Given the description of an element on the screen output the (x, y) to click on. 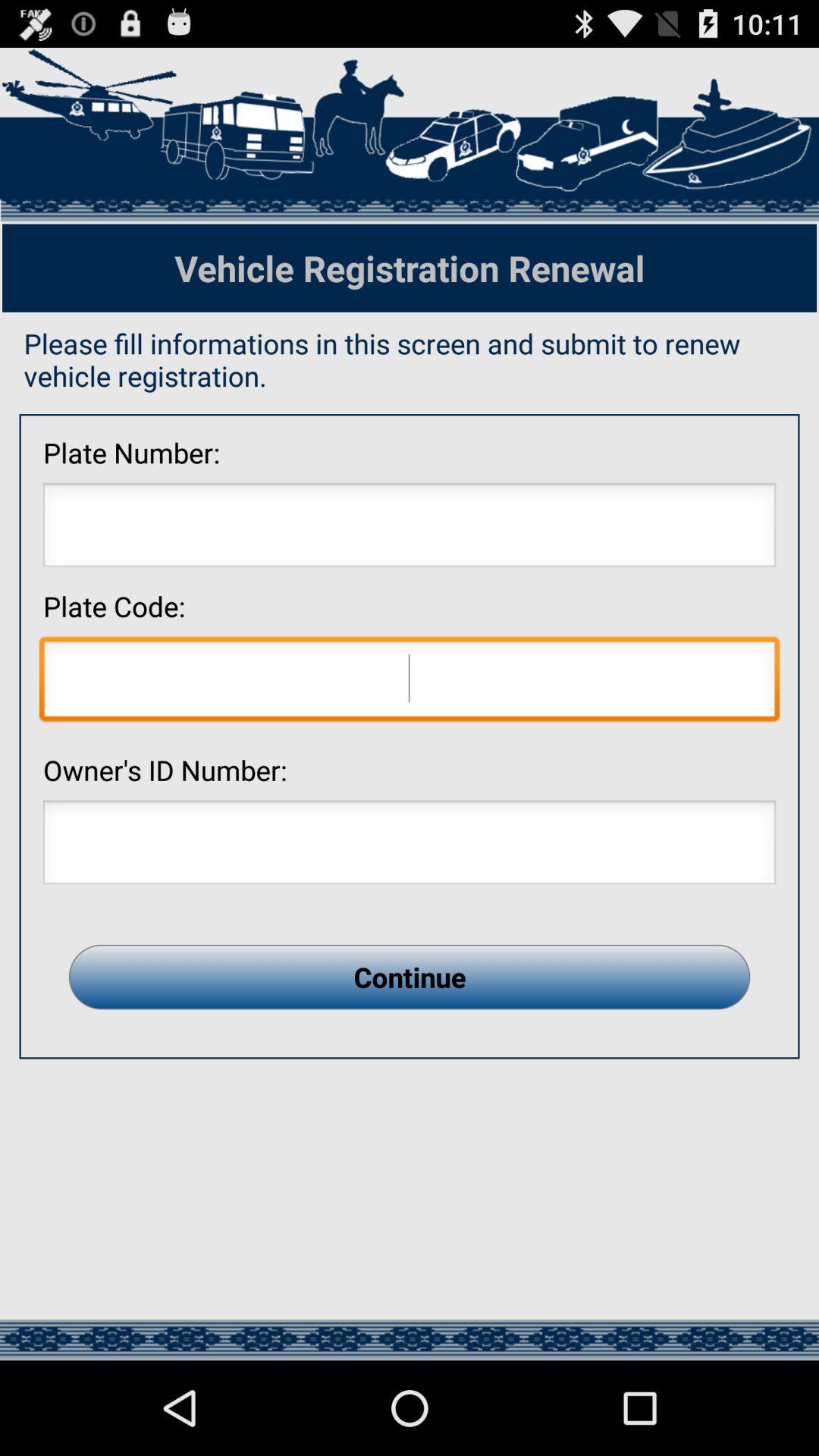
enter plate code (409, 682)
